Given the description of an element on the screen output the (x, y) to click on. 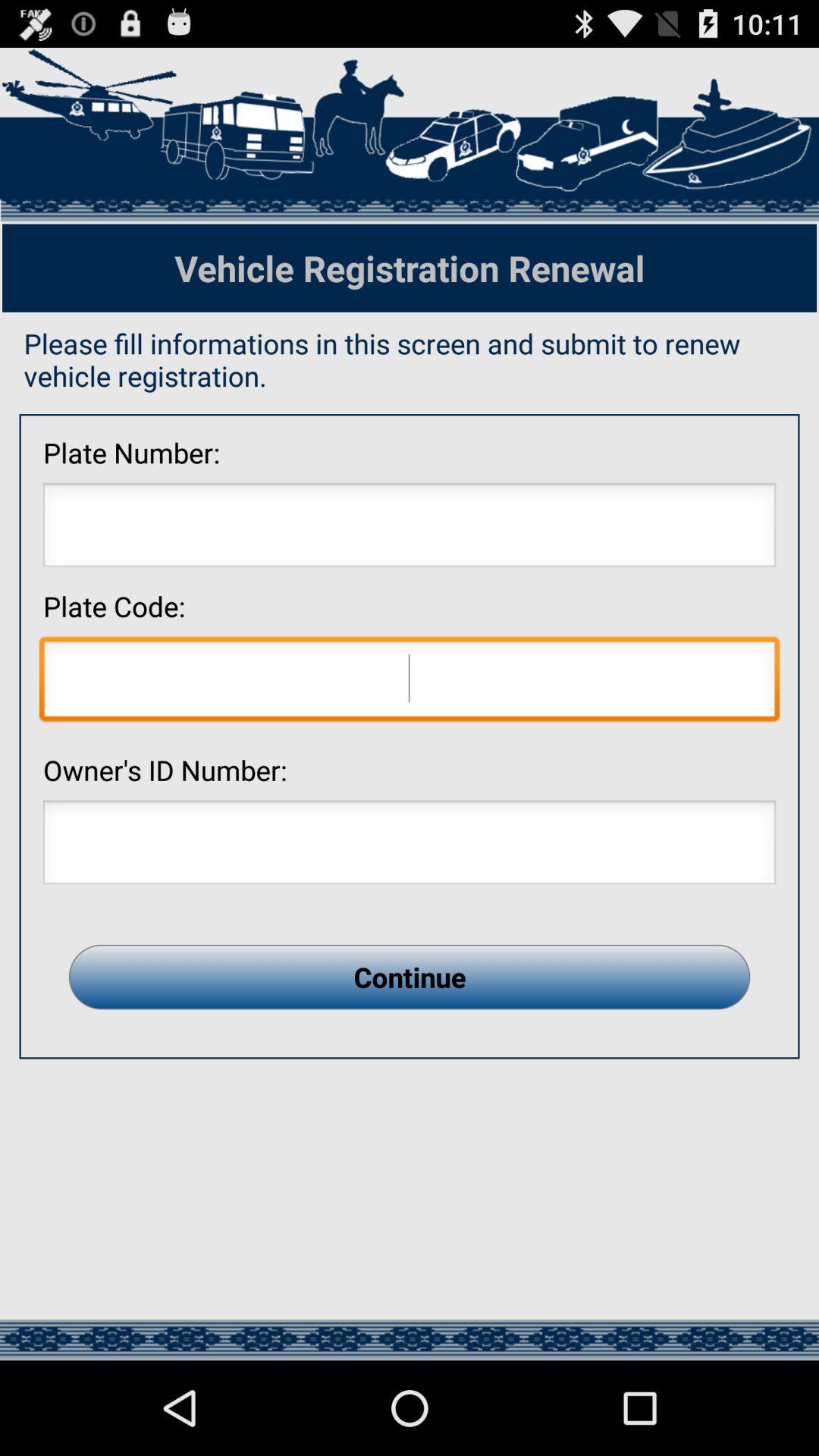
enter plate code (409, 682)
